Given the description of an element on the screen output the (x, y) to click on. 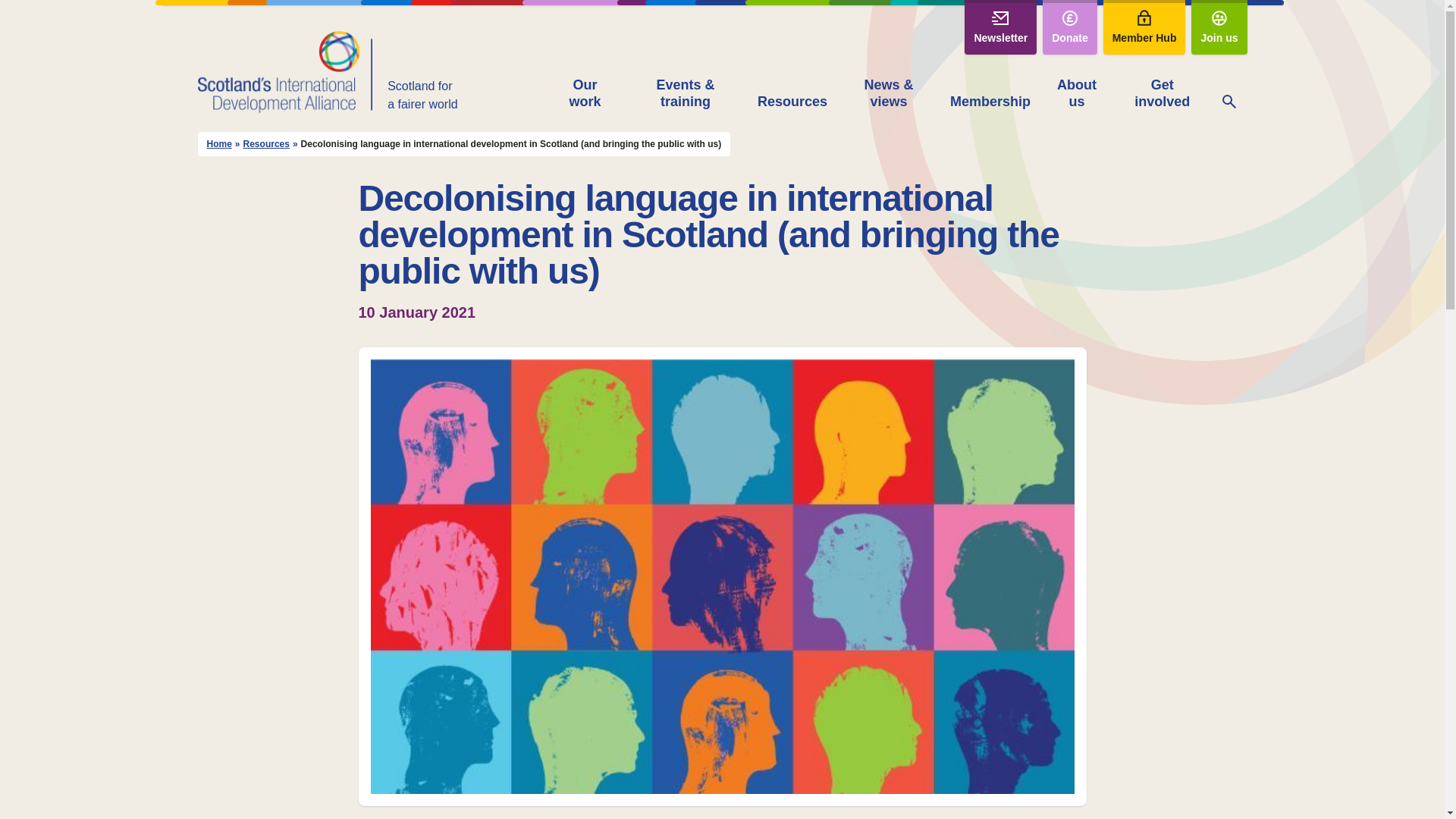
Go to Scotland's International Development Alliance. (218, 143)
Membership (989, 102)
Resources (791, 102)
Our work (585, 94)
About us (1076, 94)
Go to Resources. (266, 143)
